Given the description of an element on the screen output the (x, y) to click on. 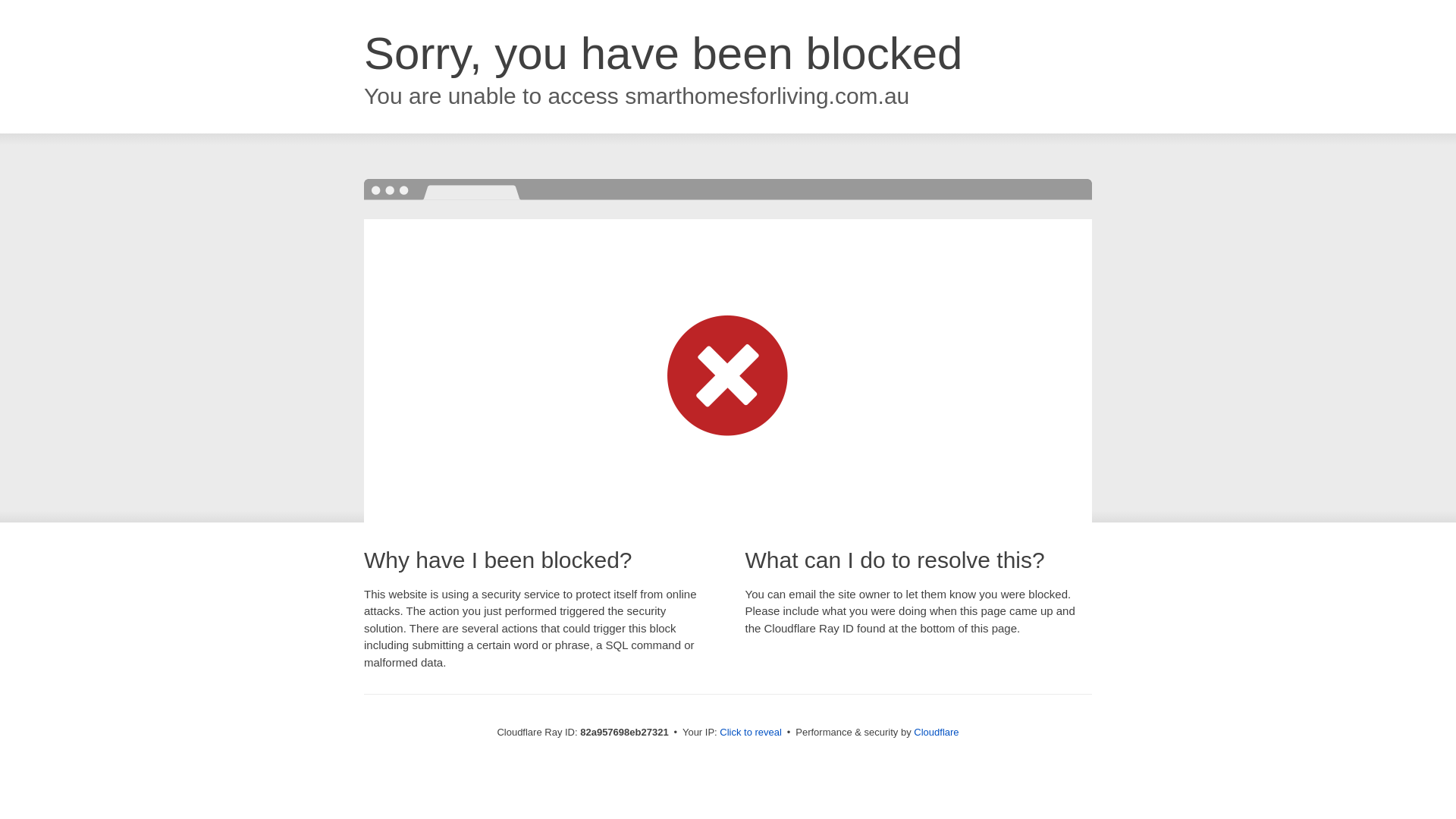
Click to reveal Element type: text (750, 732)
Cloudflare Element type: text (935, 731)
